Given the description of an element on the screen output the (x, y) to click on. 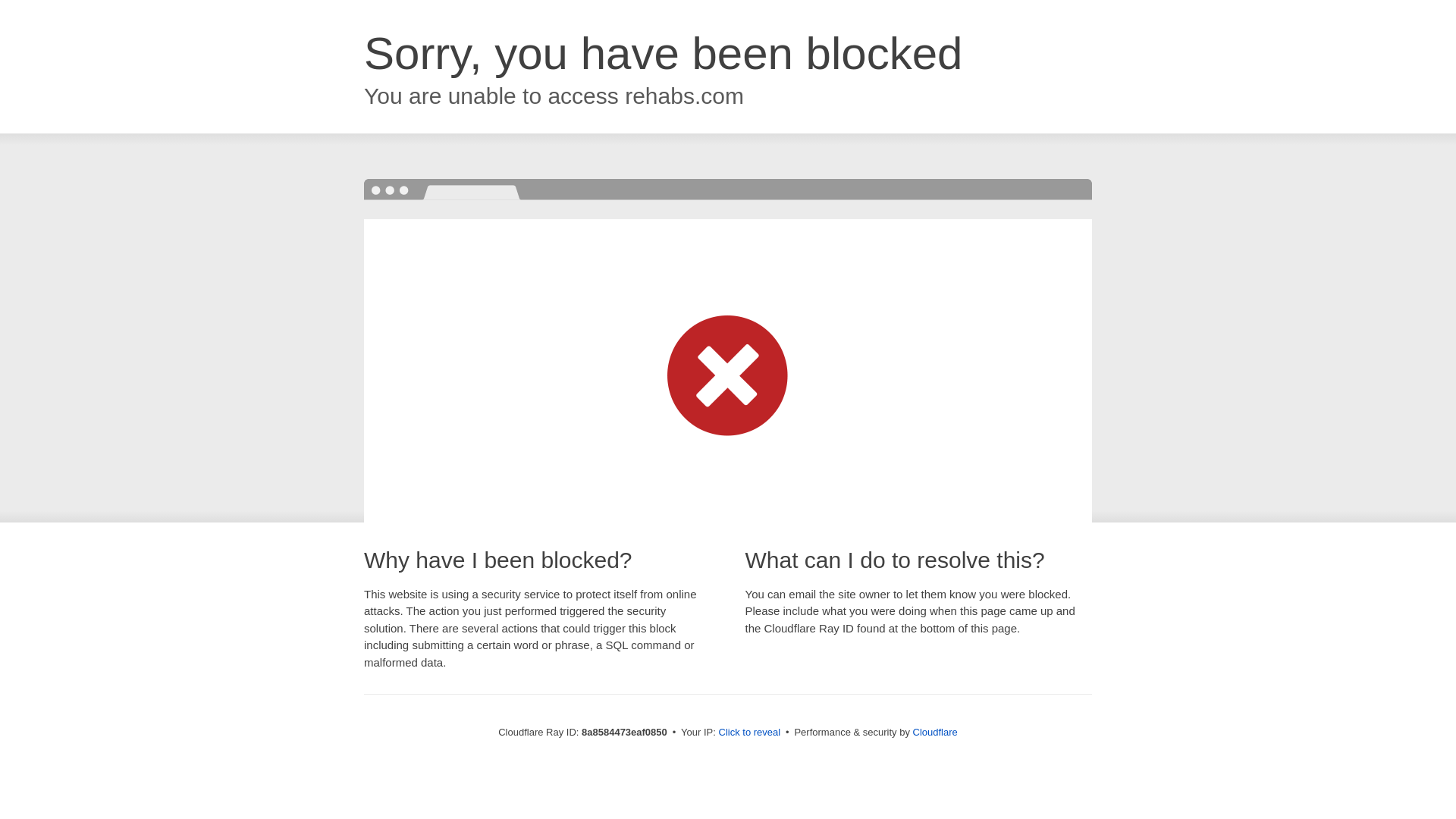
Click to reveal (749, 732)
Cloudflare (935, 731)
